Given the description of an element on the screen output the (x, y) to click on. 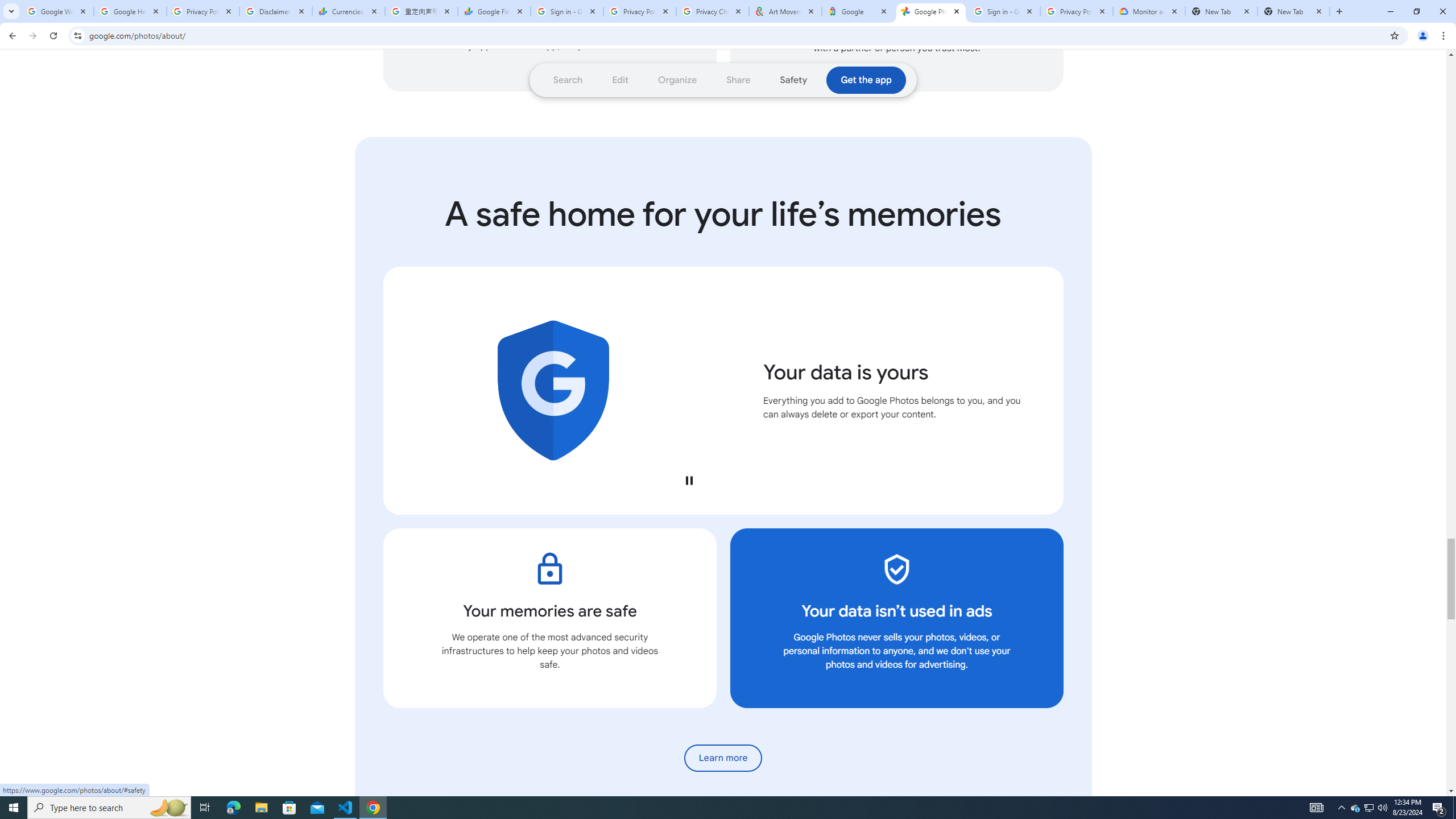
Go to section: Share (737, 80)
Google (857, 11)
New Tab (1293, 11)
Privacy Checkup (712, 11)
Go to section: Edit (620, 80)
Google Workspace Admin Community (57, 11)
